Given the description of an element on the screen output the (x, y) to click on. 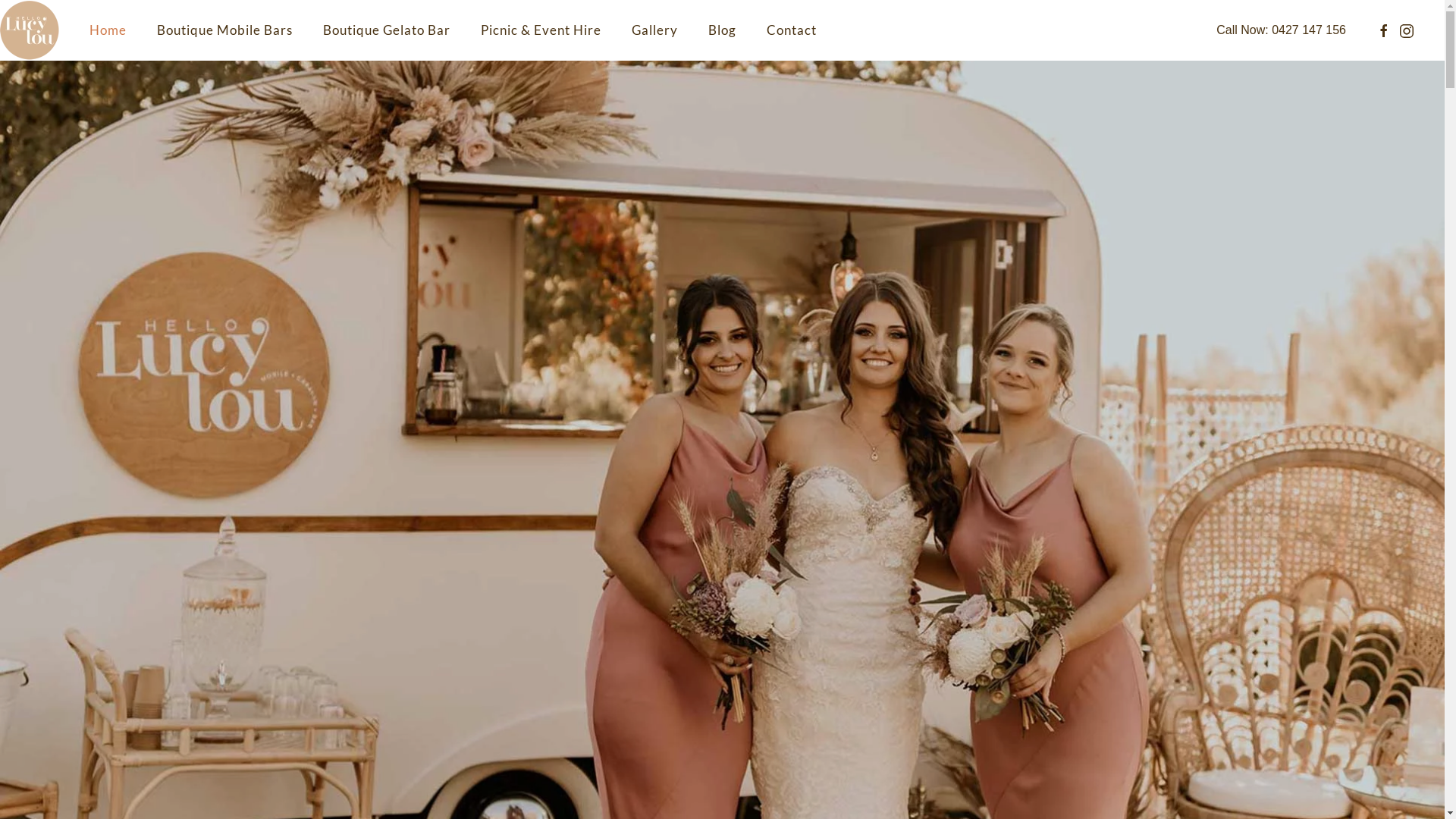
Picnic & Event Hire Element type: text (540, 30)
Contact Element type: text (791, 30)
Gallery Element type: text (654, 30)
Home Element type: text (107, 30)
Boutique Mobile Bars Element type: text (224, 30)
0427 147 156 Element type: text (1308, 29)
Blog Element type: text (722, 30)
Boutique Gelato Bar Element type: text (386, 30)
